Given the description of an element on the screen output the (x, y) to click on. 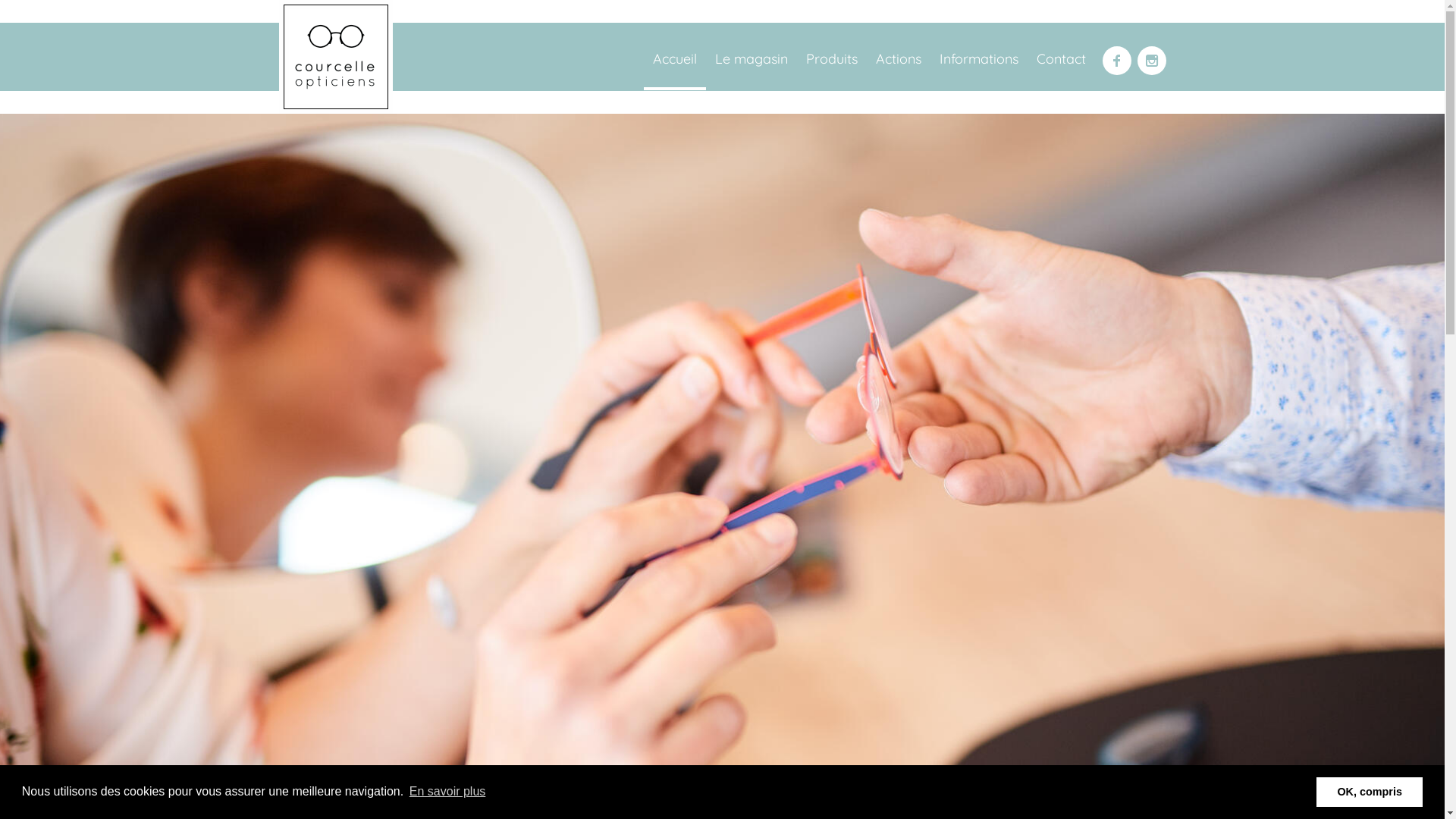
OK, compris Element type: text (1369, 791)
Instagram Element type: text (1151, 60)
Aller au contenu principal Element type: text (69, 0)
Actions Element type: text (897, 60)
Optique Courcelle Element type: text (335, 56)
En savoir plus Element type: text (447, 791)
Le magasin Element type: text (750, 60)
Contact Element type: text (1060, 60)
Accueil Element type: text (674, 60)
vind ons op facebook Element type: text (1116, 60)
Produits Element type: text (831, 60)
